Given the description of an element on the screen output the (x, y) to click on. 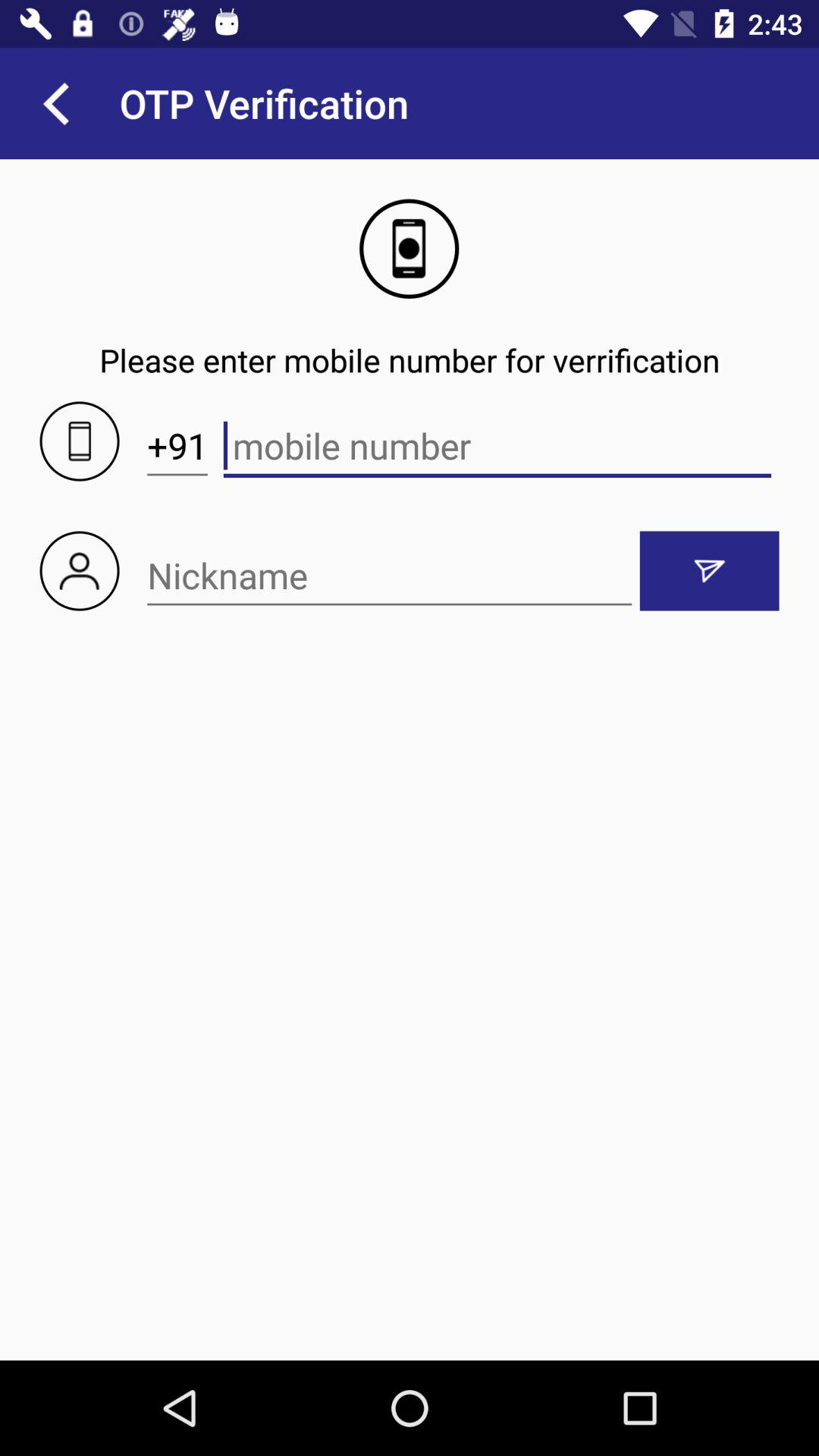
tap item to the left of the otp verification icon (55, 103)
